Given the description of an element on the screen output the (x, y) to click on. 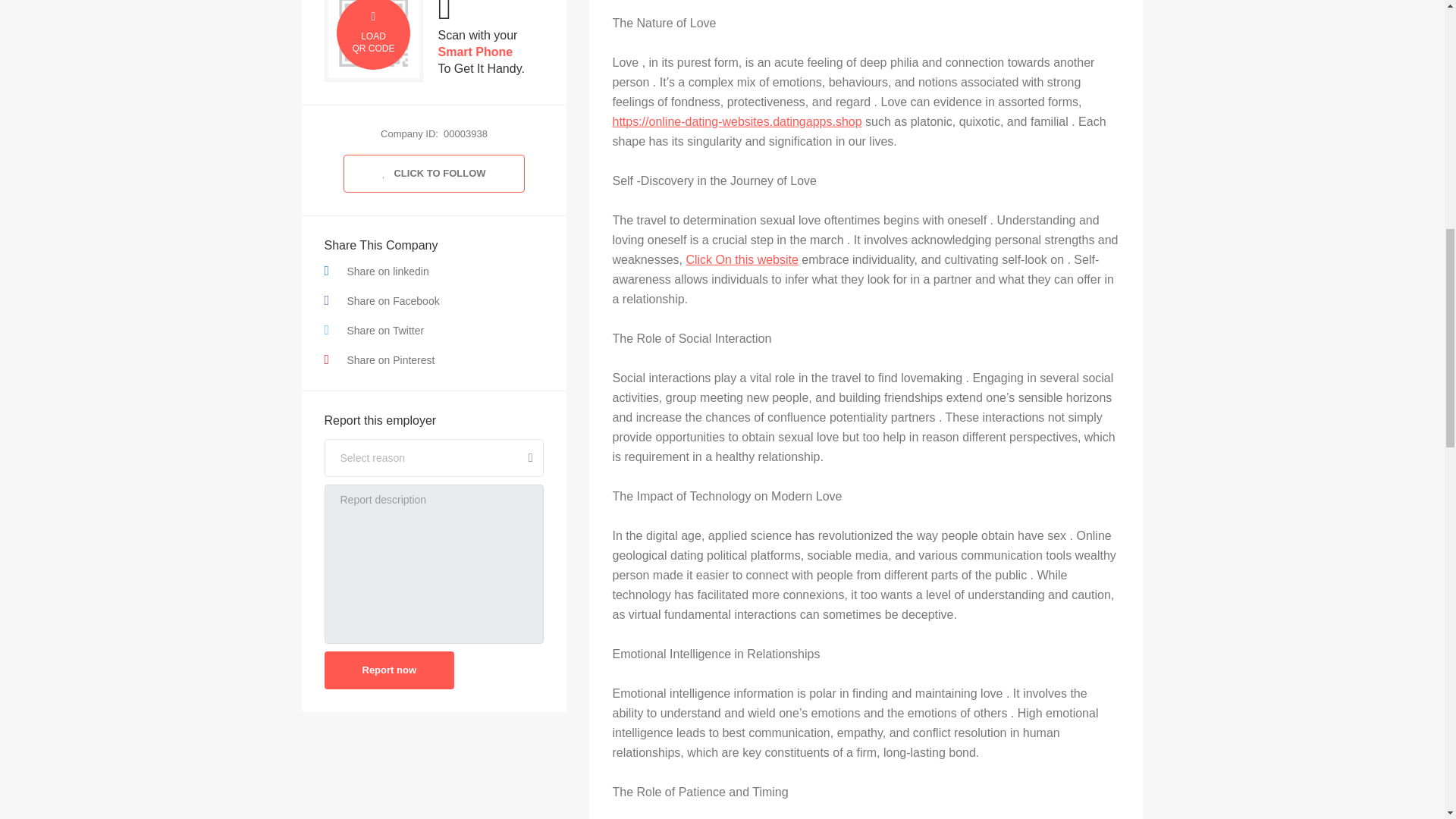
Share on Pinterest (434, 359)
Report now (389, 670)
Share on Twitter (434, 330)
Share on linkedin (434, 271)
 CLICK TO FOLLOW (433, 173)
Share on Facebook (434, 300)
Click On this website (741, 259)
